Given the description of an element on the screen output the (x, y) to click on. 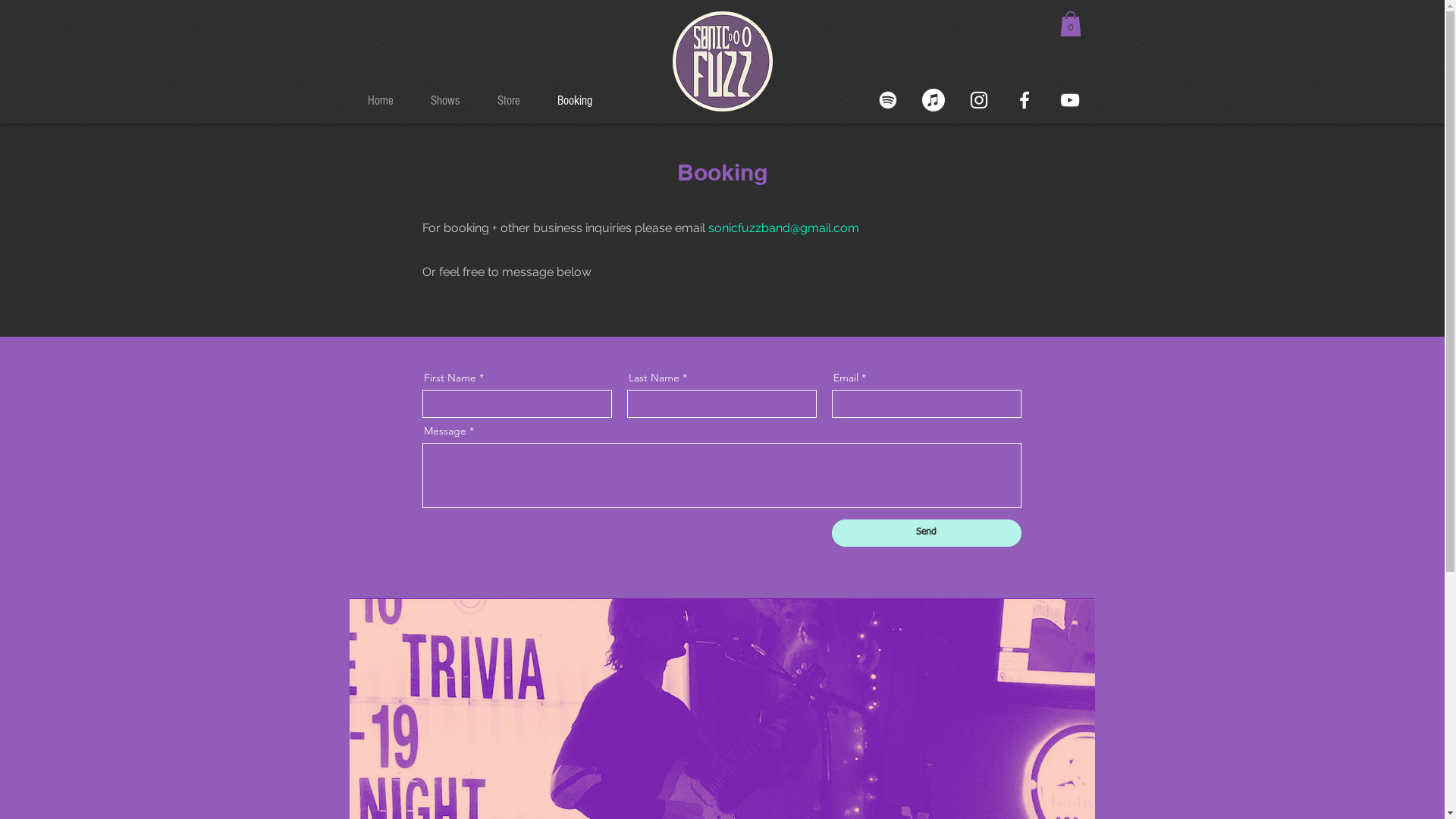
sonicfuzzband@gmail.com Element type: text (783, 227)
Store Element type: text (515, 100)
Shows Element type: text (451, 100)
0 Element type: text (1070, 23)
Home Element type: text (387, 100)
Send Element type: text (925, 532)
Booking Element type: text (582, 100)
